Given the description of an element on the screen output the (x, y) to click on. 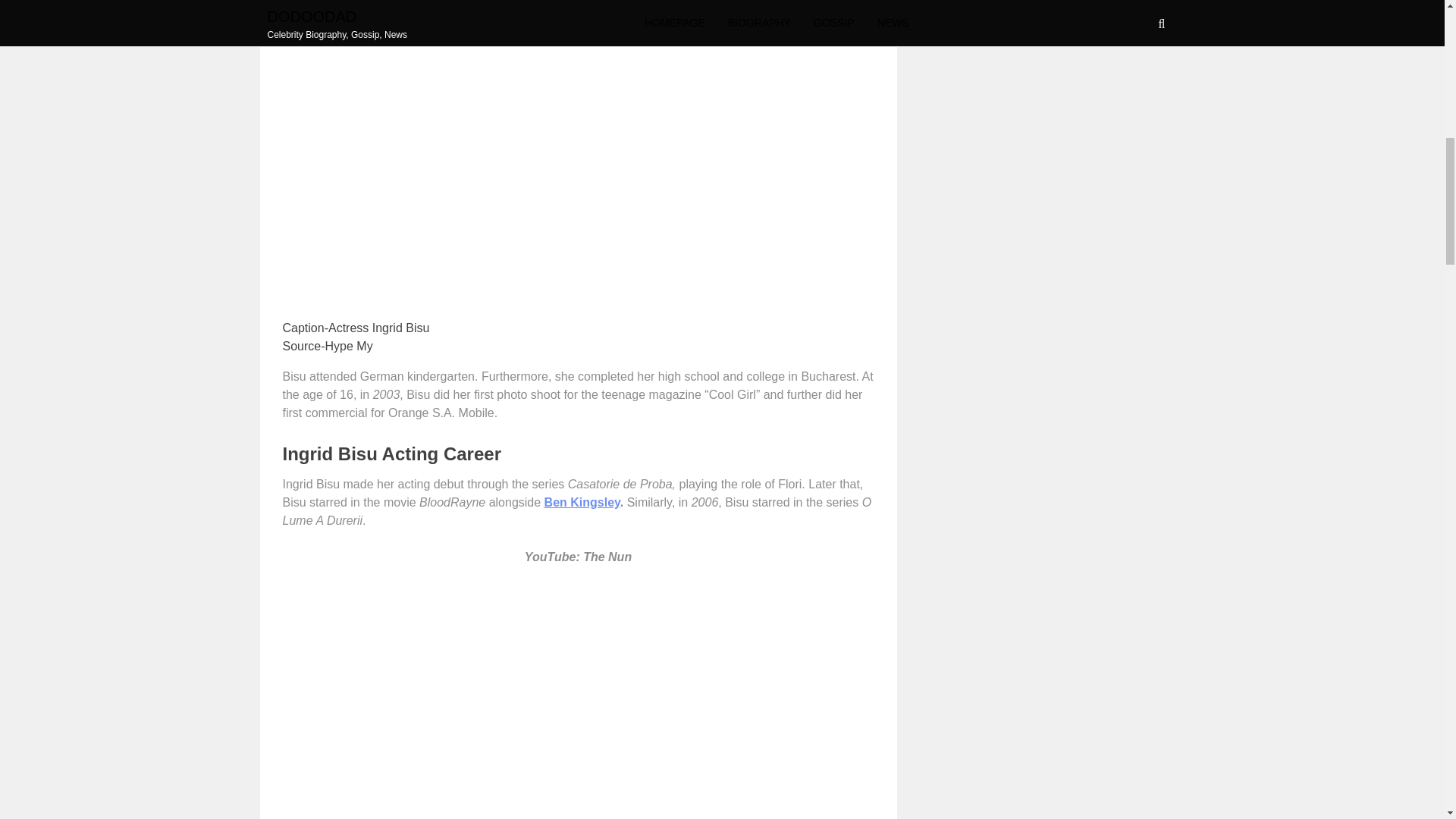
Ben Kingsley (582, 502)
Ben Kingsley (582, 502)
